Given the description of an element on the screen output the (x, y) to click on. 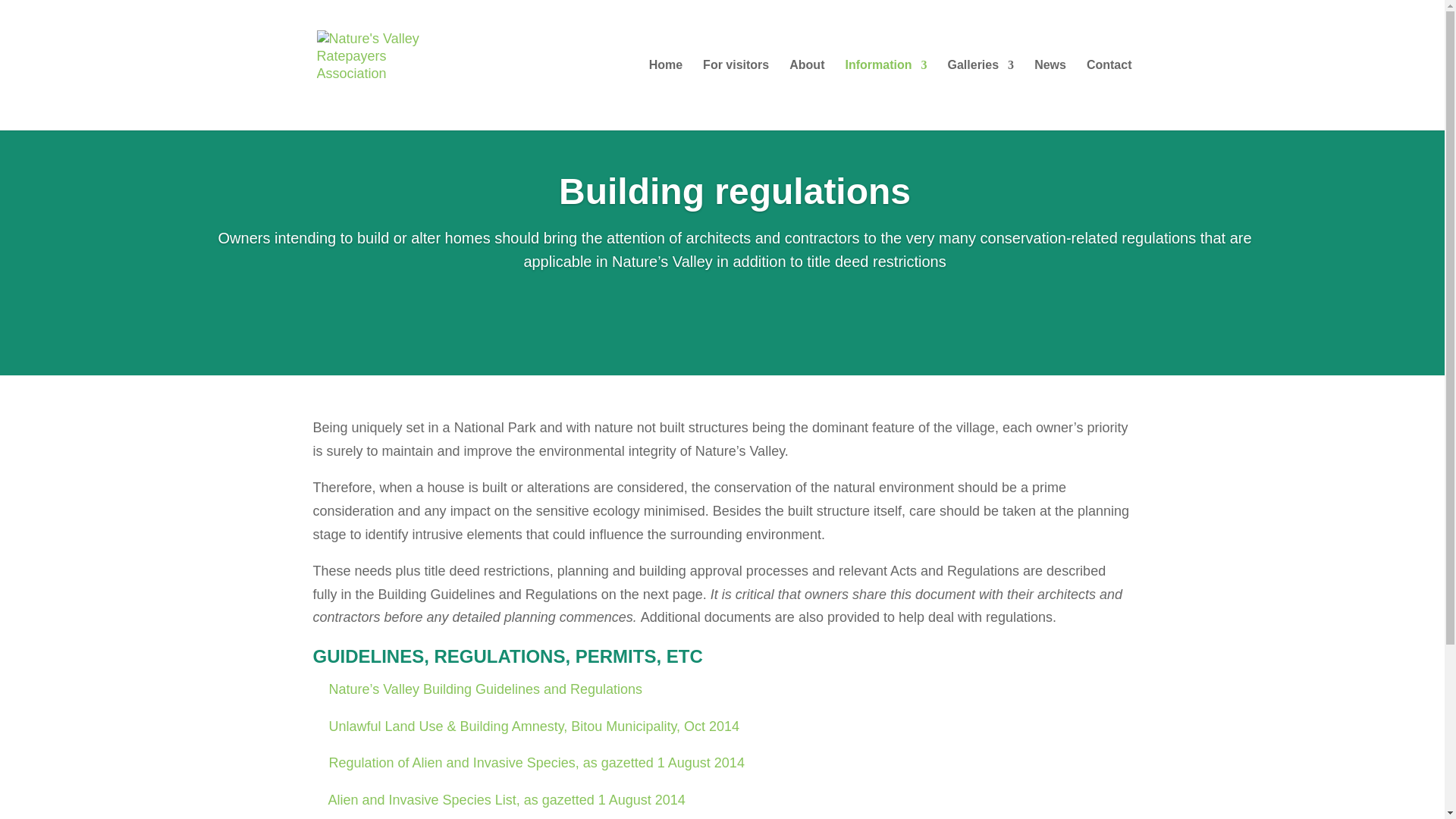
For visitors (735, 94)
Information (885, 94)
Galleries (980, 94)
Alien and Invasive Species List, as gazetted 1 August 2014 (498, 799)
